Given the description of an element on the screen output the (x, y) to click on. 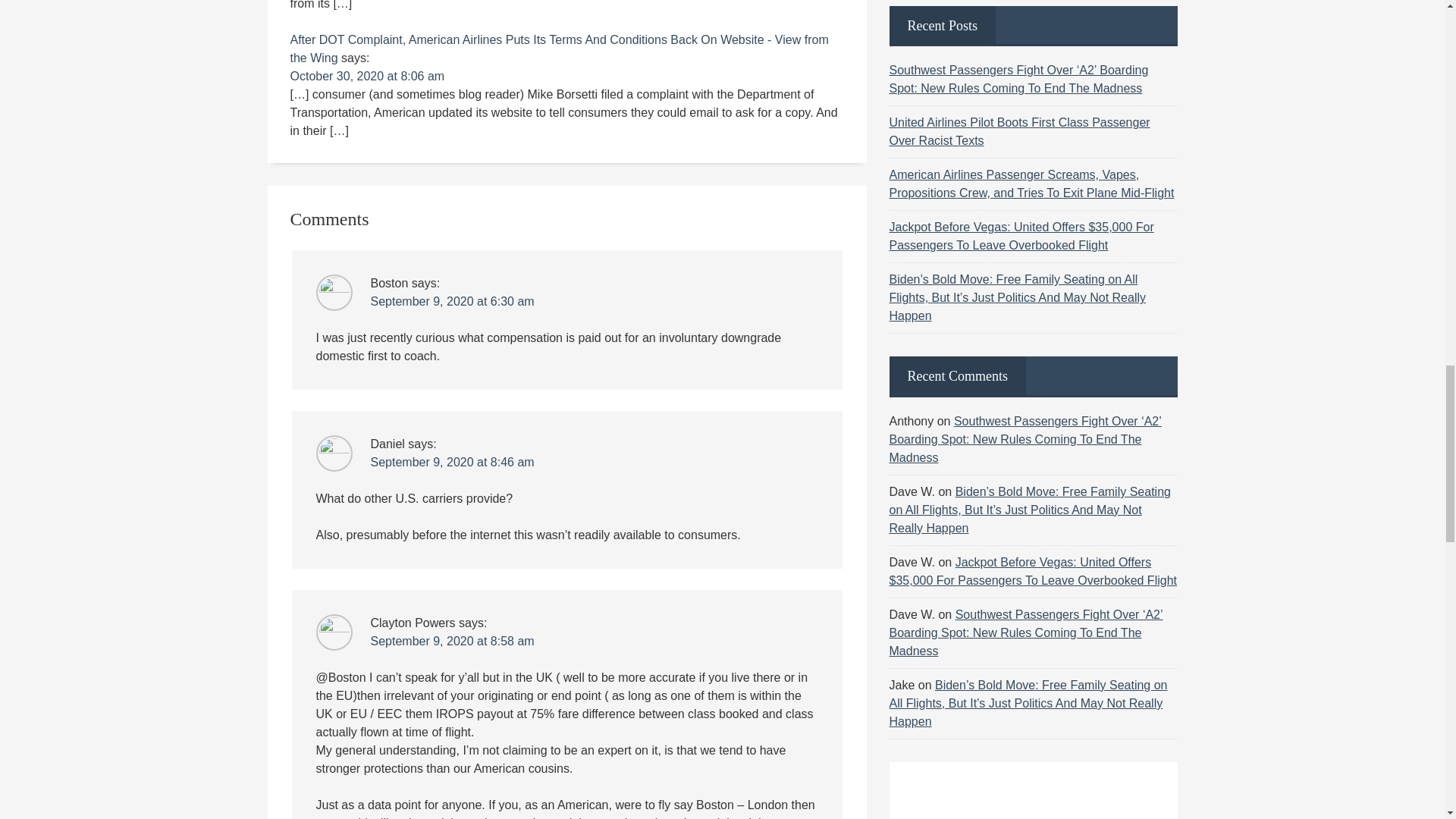
September 9, 2020 at 8:58 am (451, 640)
October 30, 2020 at 8:06 am (366, 75)
September 9, 2020 at 8:46 am (451, 461)
September 9, 2020 at 6:30 am (451, 300)
